Given the description of an element on the screen output the (x, y) to click on. 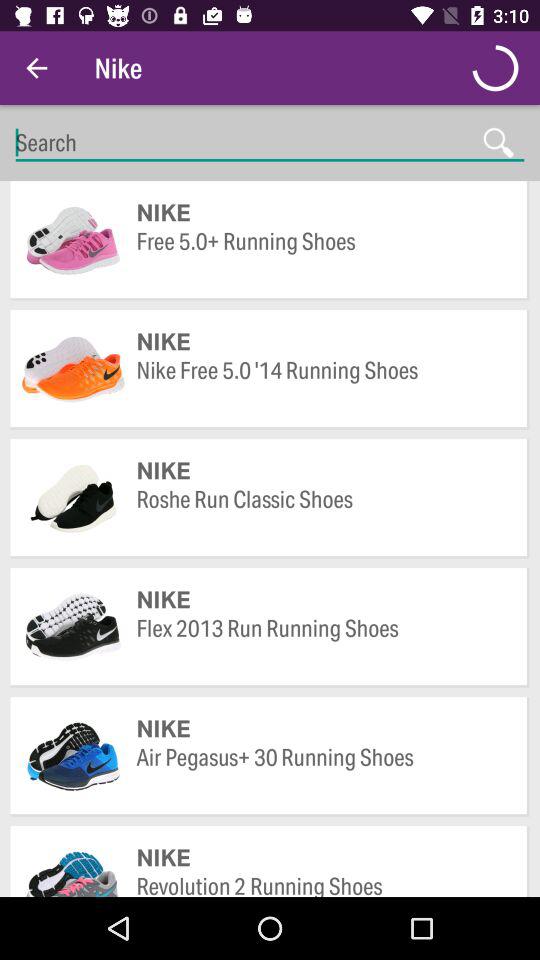
click the flex 2013 run item (322, 642)
